Given the description of an element on the screen output the (x, y) to click on. 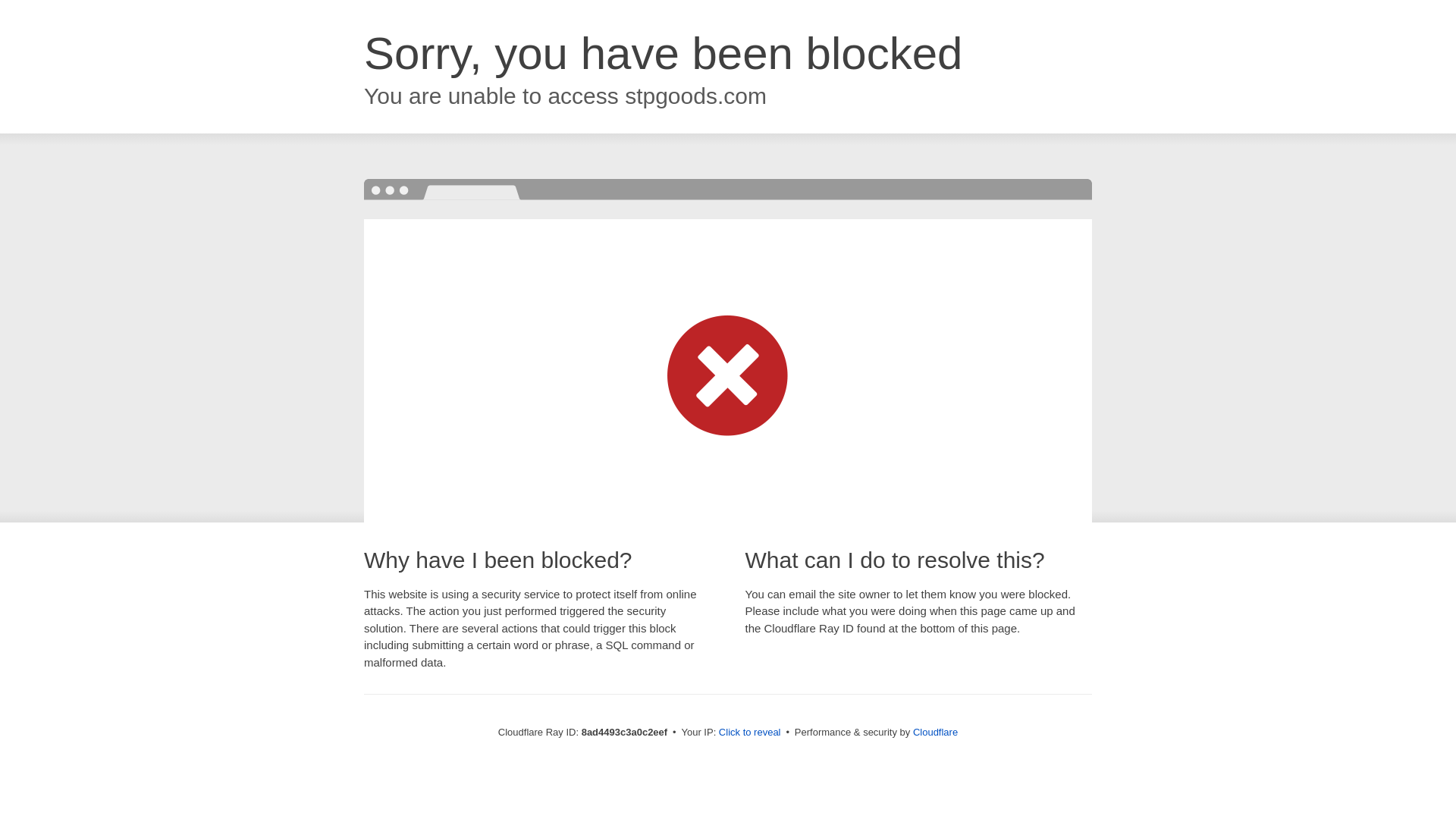
Cloudflare (935, 731)
Click to reveal (749, 732)
